Given the description of an element on the screen output the (x, y) to click on. 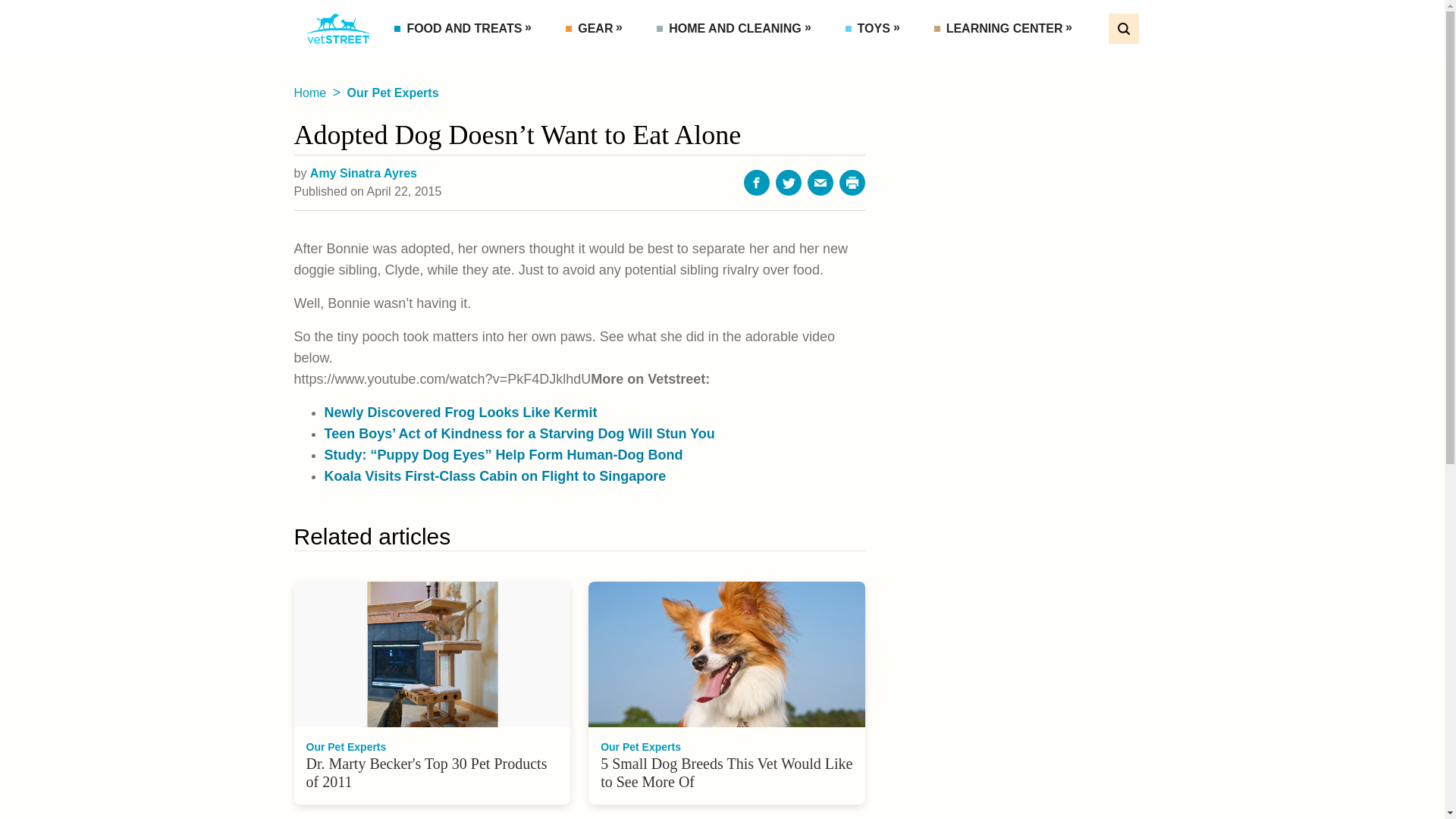
Dogs (1019, 62)
HOME AND CLEANING (736, 28)
FOOD AND TREATS (465, 28)
GEAR (596, 28)
Cat Beds (719, 62)
Share via email (820, 182)
Share on Twitter (789, 182)
LEARNING CENTER (1006, 28)
TOYS (875, 28)
Cat Food (457, 62)
